Given the description of an element on the screen output the (x, y) to click on. 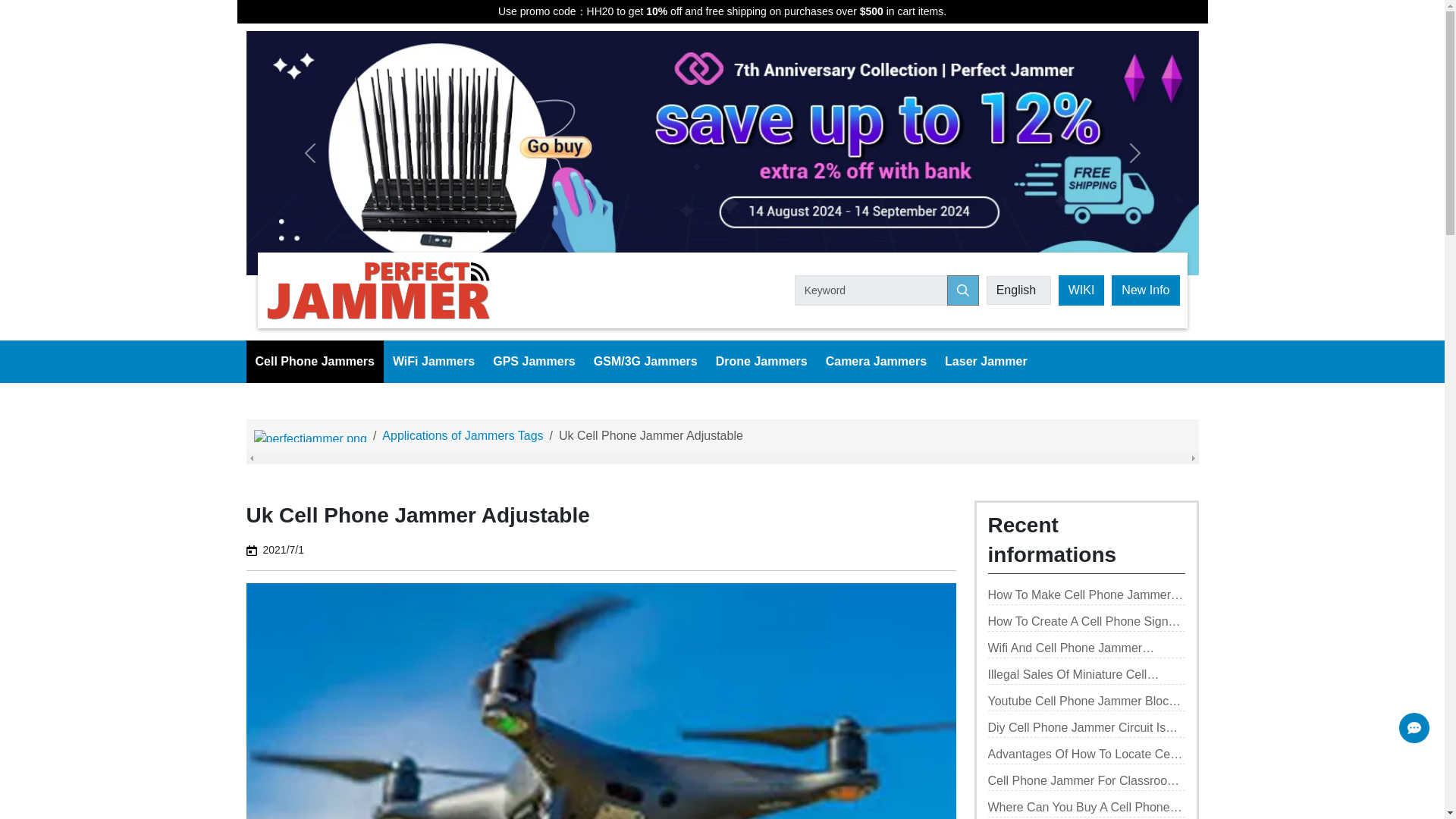
Cell Phone Jammer For Classroom Affects Data Signal (1086, 781)
GPS Jammers (534, 361)
WiFi Jammers (433, 361)
Advantages Of How To Locate Cell Phone Jammer (1086, 754)
Youtube Cell Phone Jammer Block Cell Phone Signal (1086, 701)
Applications of Jammers Tags (462, 435)
Illegal Sales Of Miniature Cell Phone Jammer (1086, 674)
